Given the description of an element on the screen output the (x, y) to click on. 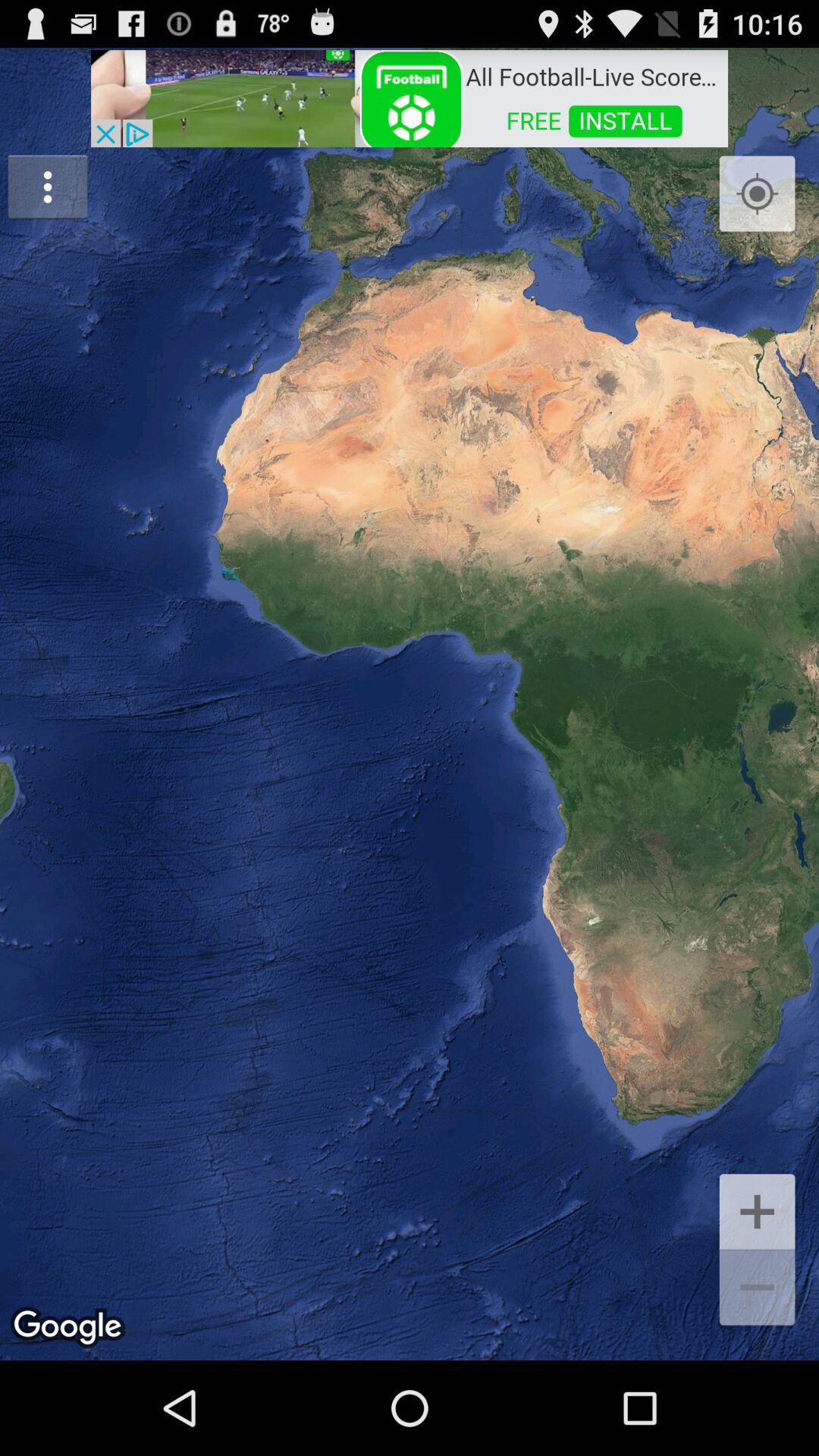
select icon at the top left corner (47, 186)
